Given the description of an element on the screen output the (x, y) to click on. 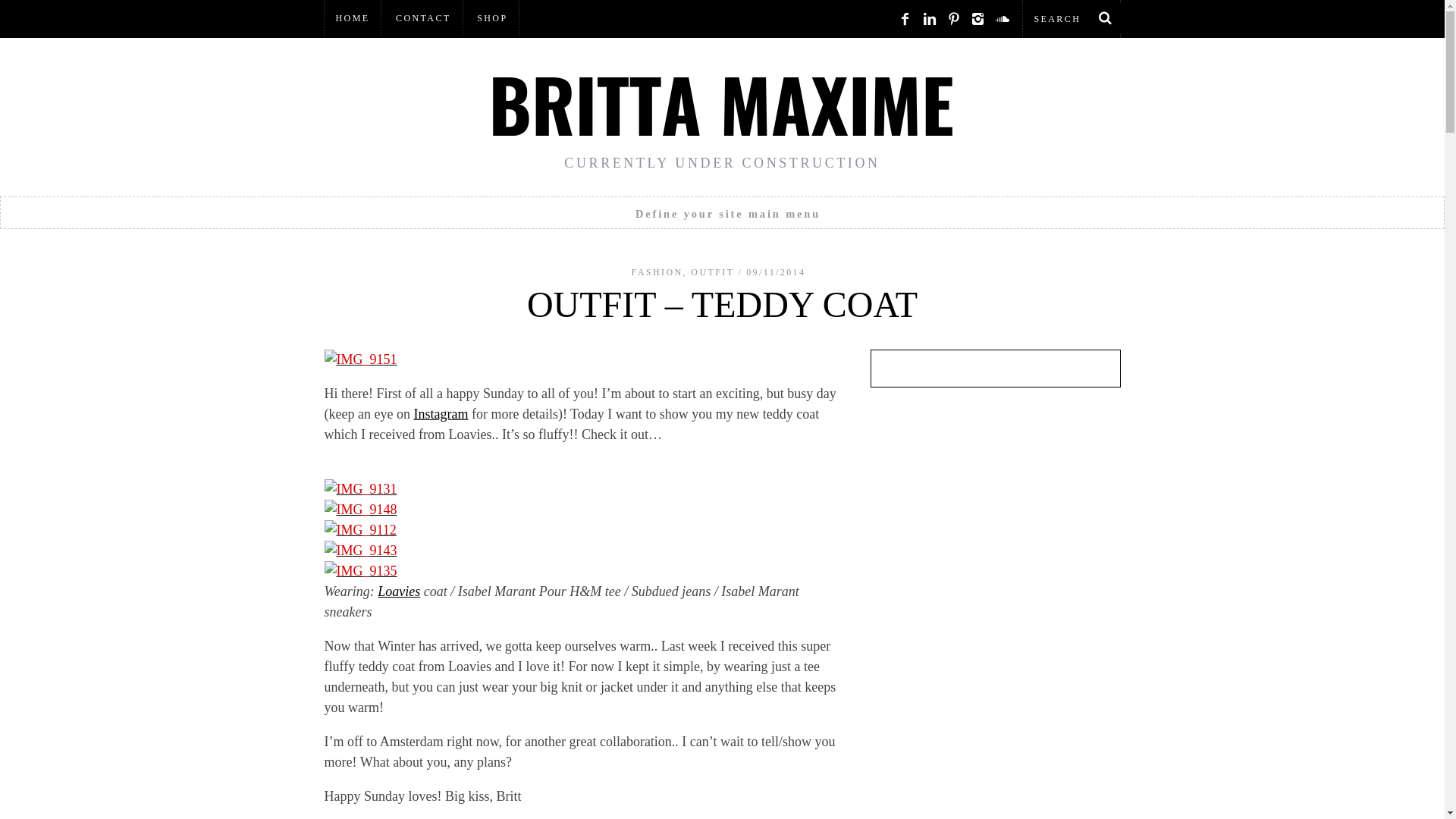
OUTFIT (711, 271)
SHOP (491, 18)
Instagram (440, 413)
CONTACT (423, 18)
Loavies (398, 590)
FASHION (656, 271)
Loavies (398, 590)
HOME (352, 18)
Instagram (440, 413)
Search (1071, 18)
